Given the description of an element on the screen output the (x, y) to click on. 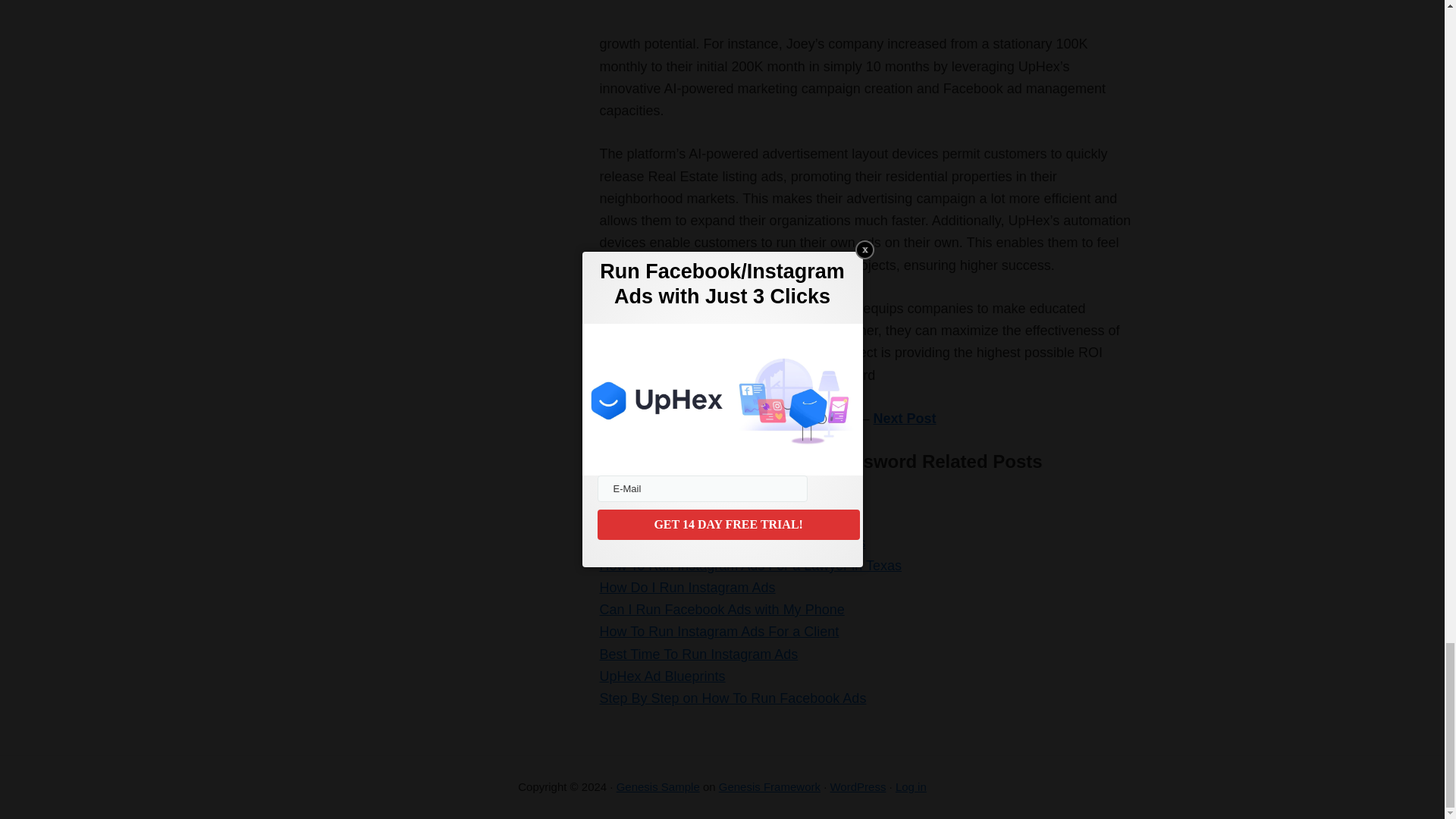
UpHex Sign Up (645, 498)
Next Post (904, 418)
Genesis Framework (770, 786)
UpHex Ad Blueprints (661, 676)
Is UpHex Free (642, 520)
UpHex Ad Blueprints (661, 676)
Step By Step on How To Run Facebook Ads (732, 698)
Genesis Sample (657, 786)
How To Run Instagram Ads For a Client (718, 631)
Can I Run Facebook Ads with My Phone (721, 609)
How To Run Instagram Ads For a Client (718, 631)
WordPress (857, 786)
UpHex Sign Up (645, 498)
Best Scheduled Time To Run Facebook Ads (731, 542)
How To Run Instagram Ads For a Lawyer in Texas (749, 565)
